Given the description of an element on the screen output the (x, y) to click on. 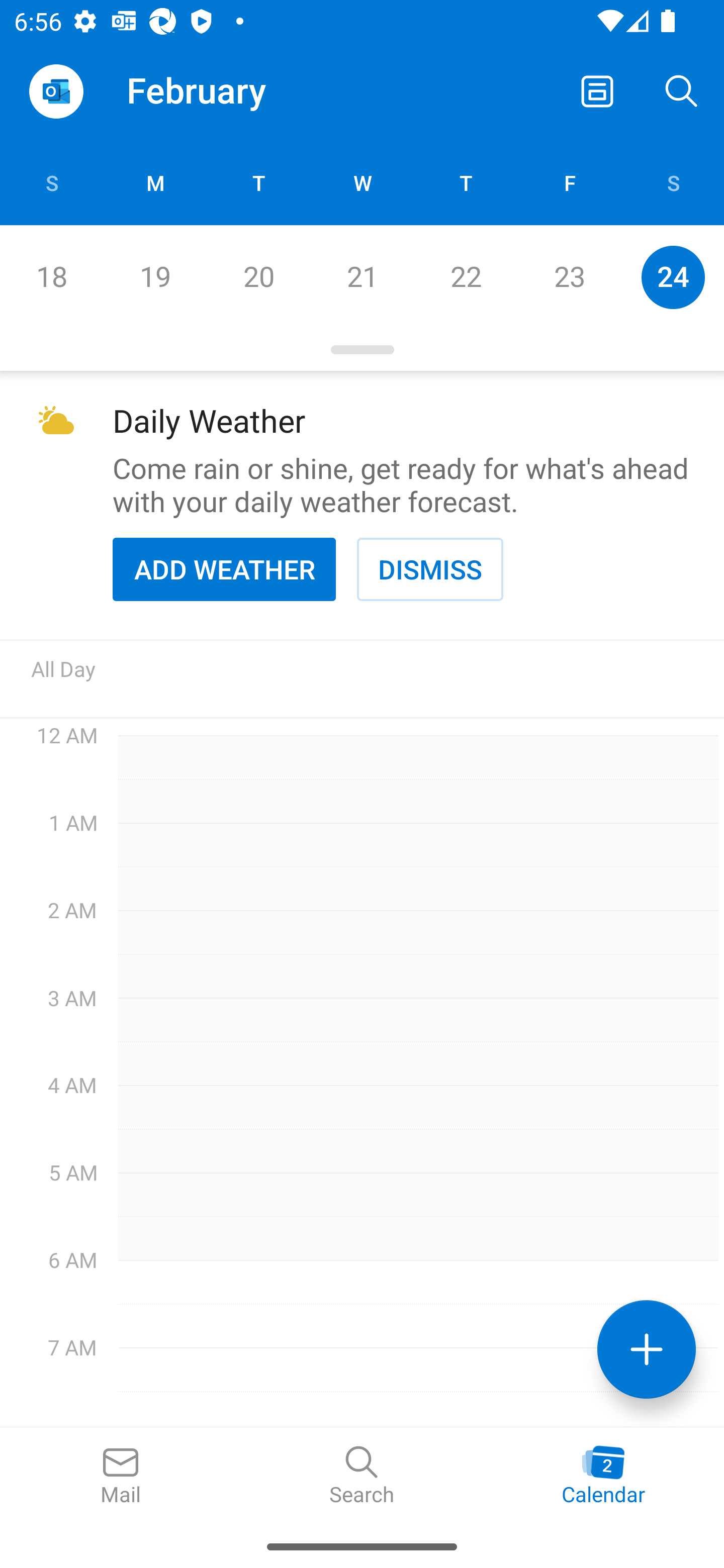
February February 2024, day picker expand (209, 90)
Switch away from Day view (597, 90)
Search (681, 90)
Open Navigation Drawer (55, 91)
18 Sunday, February 18 (51, 277)
19 Monday, February 19 (155, 277)
20 Tuesday, February 20 (258, 277)
21 Wednesday, February 21 (362, 277)
22 Thursday, February 22 (465, 277)
23 Friday, February 23 (569, 277)
24 Saturday, February 24, Selected (672, 277)
Day picker expand (362, 350)
ADD WEATHER (224, 568)
DISMISS (429, 568)
Add new event (646, 1348)
Mail (120, 1475)
Search (361, 1475)
